Given the description of an element on the screen output the (x, y) to click on. 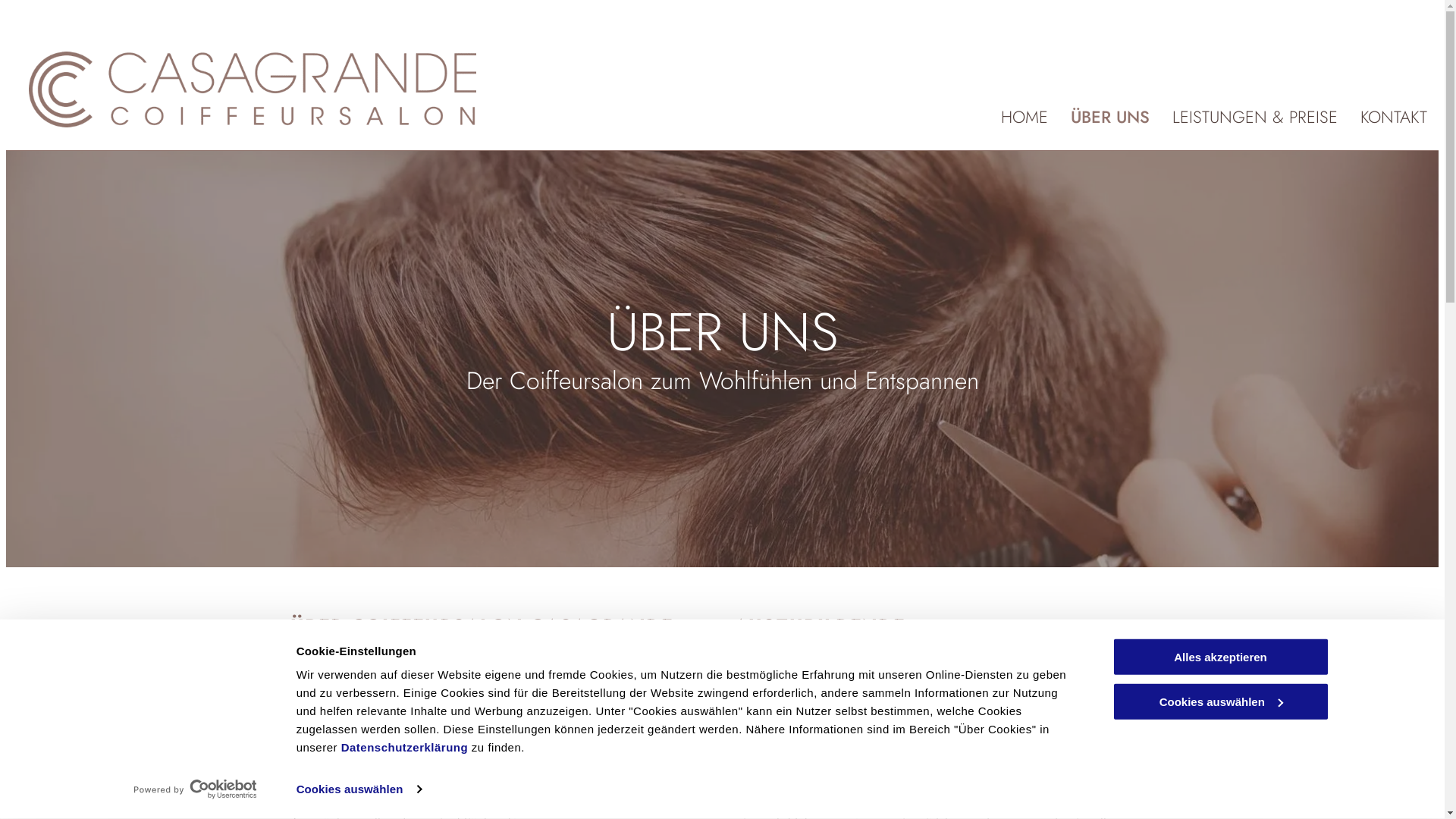
LEISTUNGEN & PREISE Element type: text (1254, 117)
Alles akzeptieren Element type: text (1219, 656)
HOME Element type: text (1024, 117)
KONTAKT Element type: text (1393, 117)
